Given the description of an element on the screen output the (x, y) to click on. 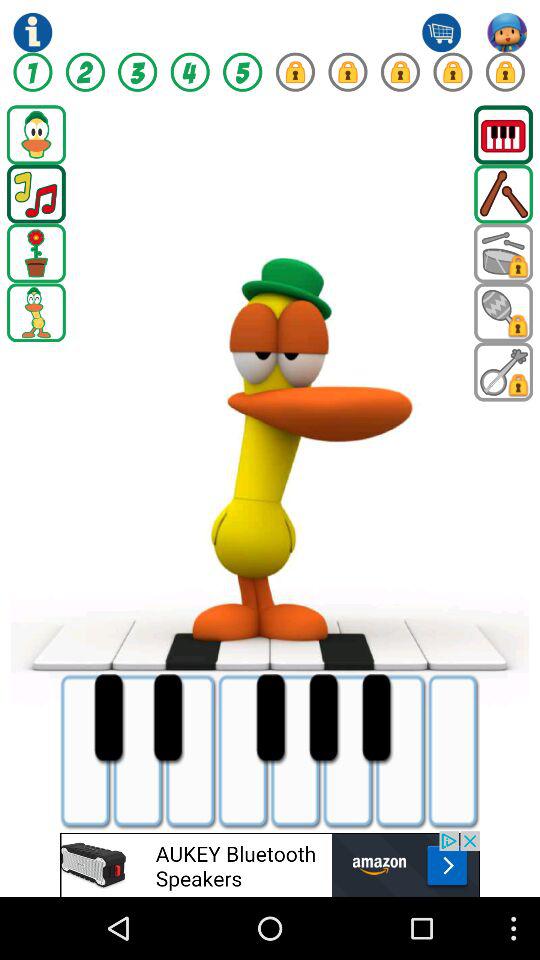
level 2 button (85, 71)
